Given the description of an element on the screen output the (x, y) to click on. 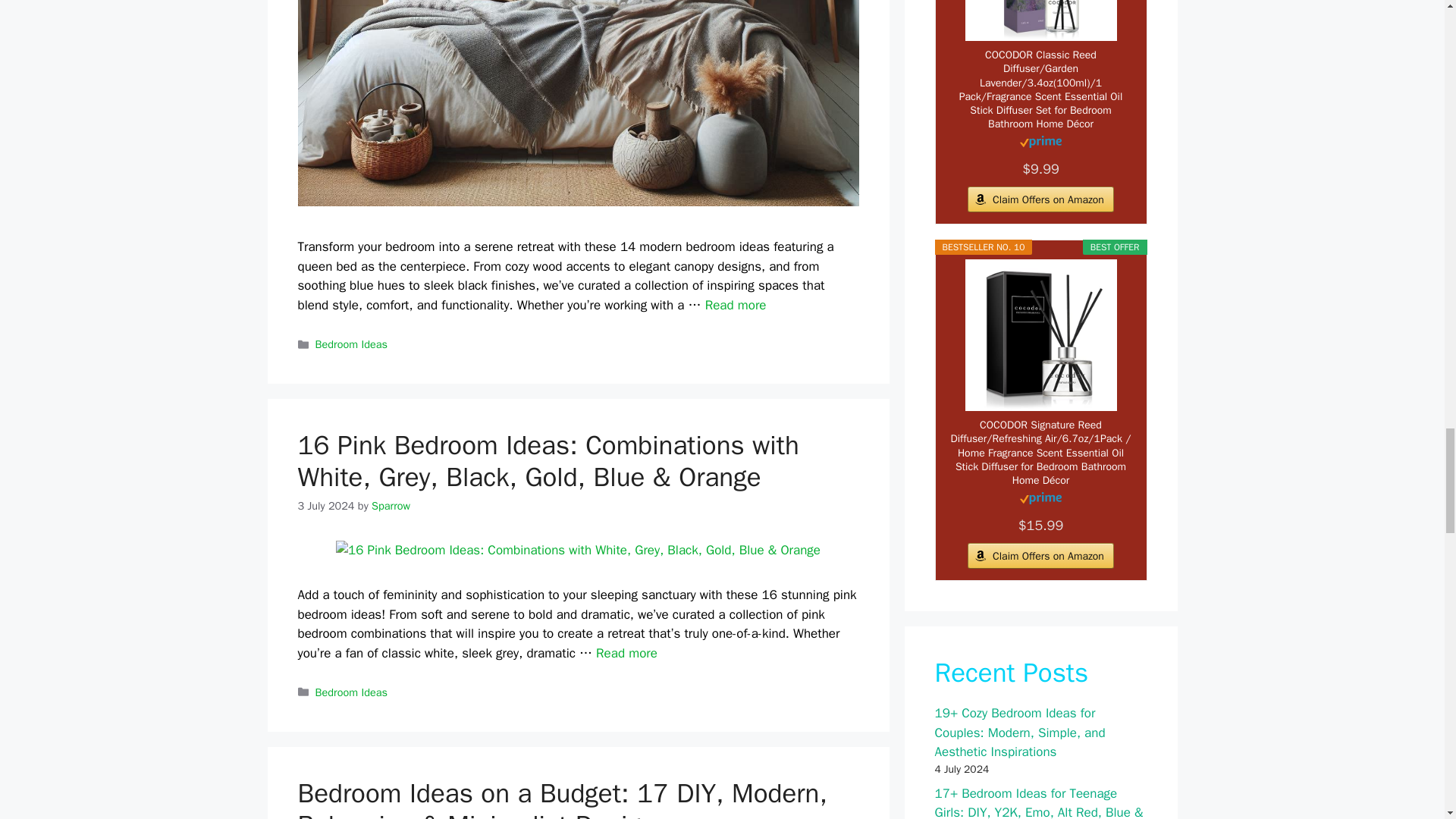
Sparrow (390, 505)
Bedroom Ideas (351, 692)
Bedroom Ideas (351, 344)
Read more (626, 652)
View all posts by Sparrow (390, 505)
Read more (735, 304)
